Given the description of an element on the screen output the (x, y) to click on. 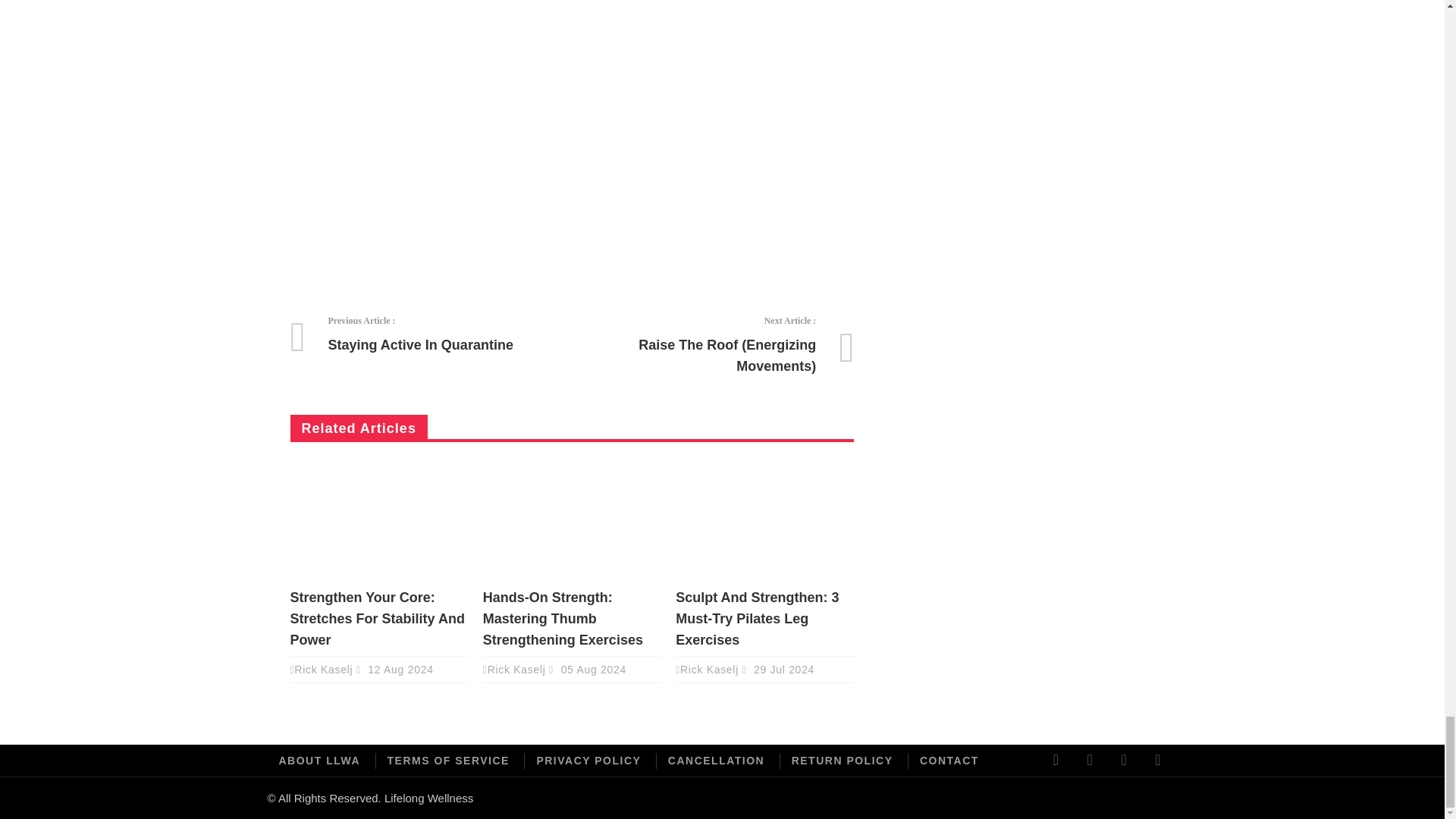
Hands-On Strength: Mastering Thumb Strengthening Exercises (563, 618)
Sculpt and Strengthen: 3 Must-Try Pilates Leg Exercises (443, 333)
Strengthen Your Core: Stretches For Stability And Power (756, 618)
